Given the description of an element on the screen output the (x, y) to click on. 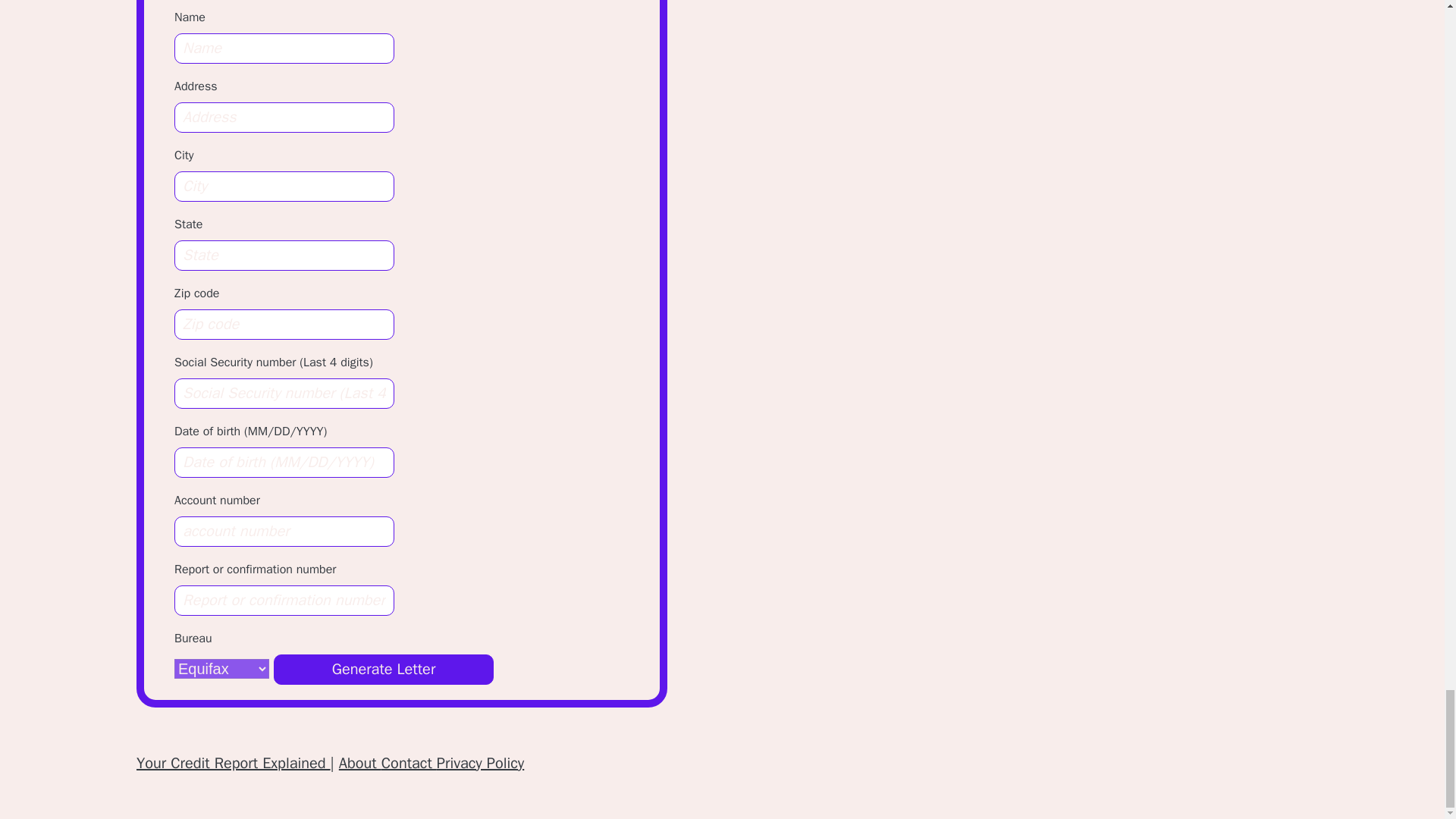
Your Credit Report Explained (233, 763)
Generate Letter (383, 669)
Generate Letter (383, 669)
Privacy Policy (480, 763)
Contact (408, 763)
About (360, 763)
